Given the description of an element on the screen output the (x, y) to click on. 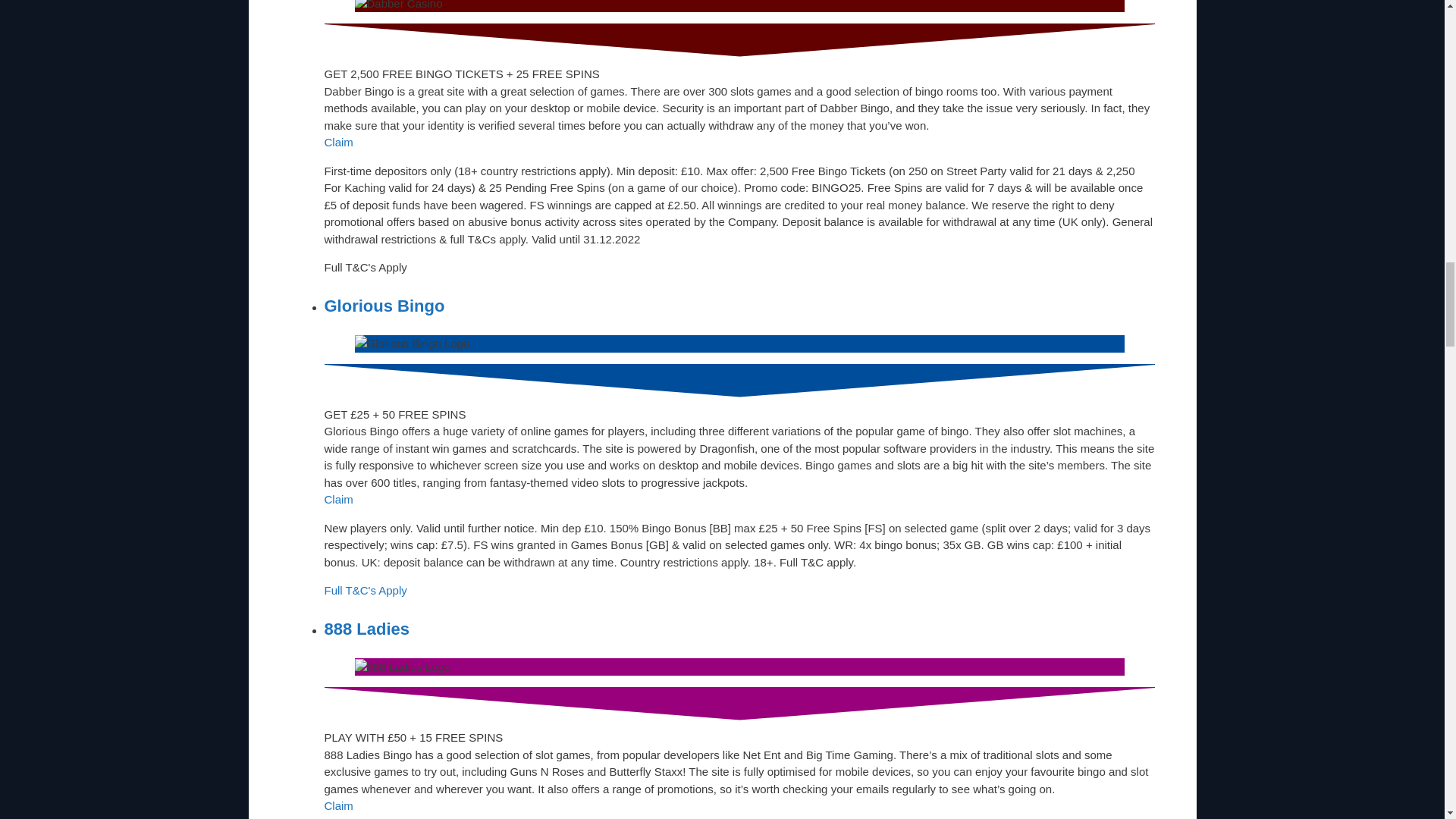
Dabber-casino (398, 6)
Glorious-Bingo (412, 343)
888 Ladies Logo (403, 667)
